Given the description of an element on the screen output the (x, y) to click on. 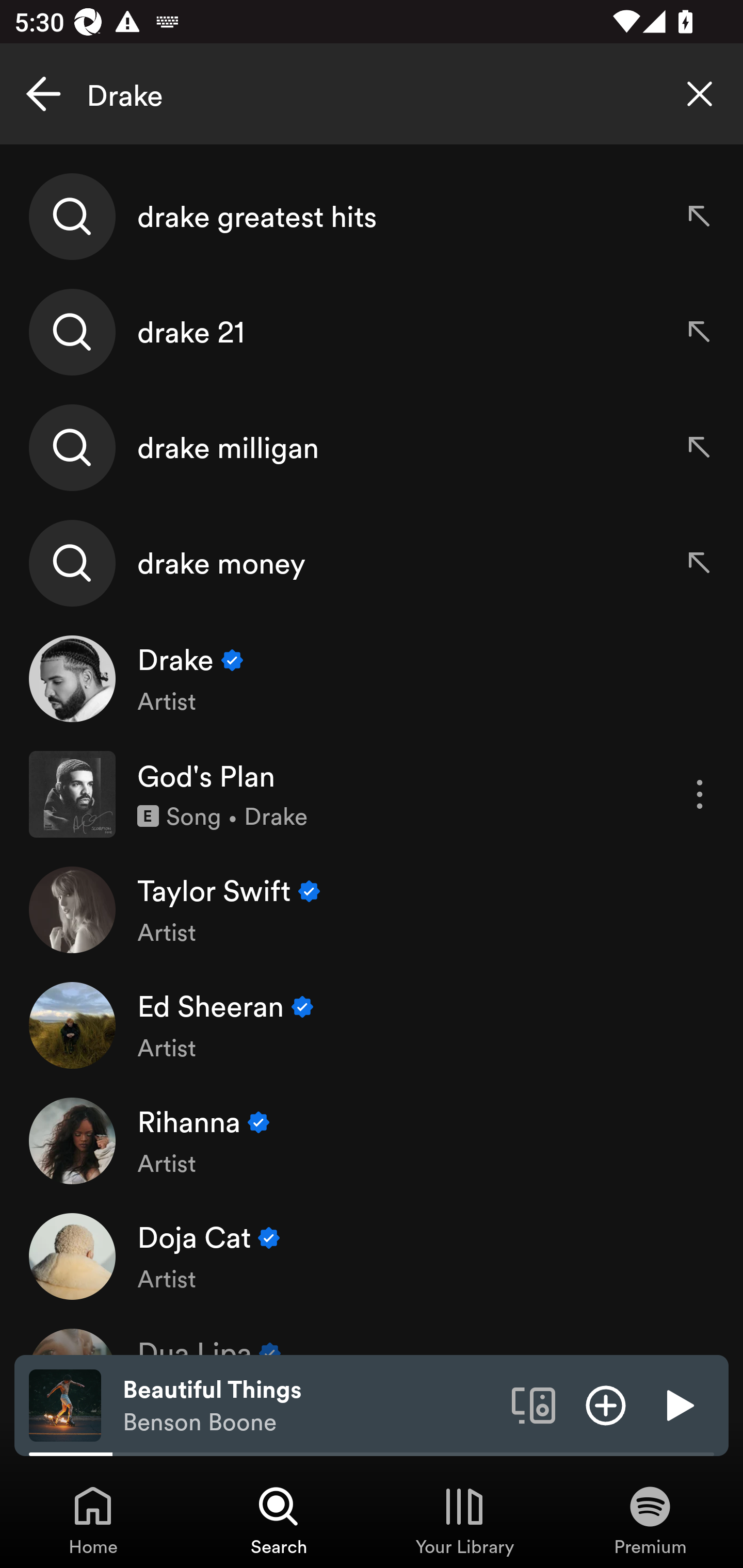
Drake (371, 93)
Cancel (43, 93)
Clear search query (699, 93)
drake greatest hits (371, 216)
drake 21 (371, 332)
drake milligan (371, 447)
drake money (371, 562)
Drake Verified Artist (371, 678)
More options for song God's Plan (699, 794)
Taylor Swift Verified Artist (371, 909)
Ed Sheeran Verified Artist (371, 1025)
Rihanna Verified Artist (371, 1140)
Doja Cat Verified Artist (371, 1255)
Beautiful Things Benson Boone (309, 1405)
The cover art of the currently playing track (64, 1404)
Connect to a device. Opens the devices menu (533, 1404)
Add item (605, 1404)
Play (677, 1404)
Home, Tab 1 of 4 Home Home (92, 1519)
Search, Tab 2 of 4 Search Search (278, 1519)
Your Library, Tab 3 of 4 Your Library Your Library (464, 1519)
Premium, Tab 4 of 4 Premium Premium (650, 1519)
